Given the description of an element on the screen output the (x, y) to click on. 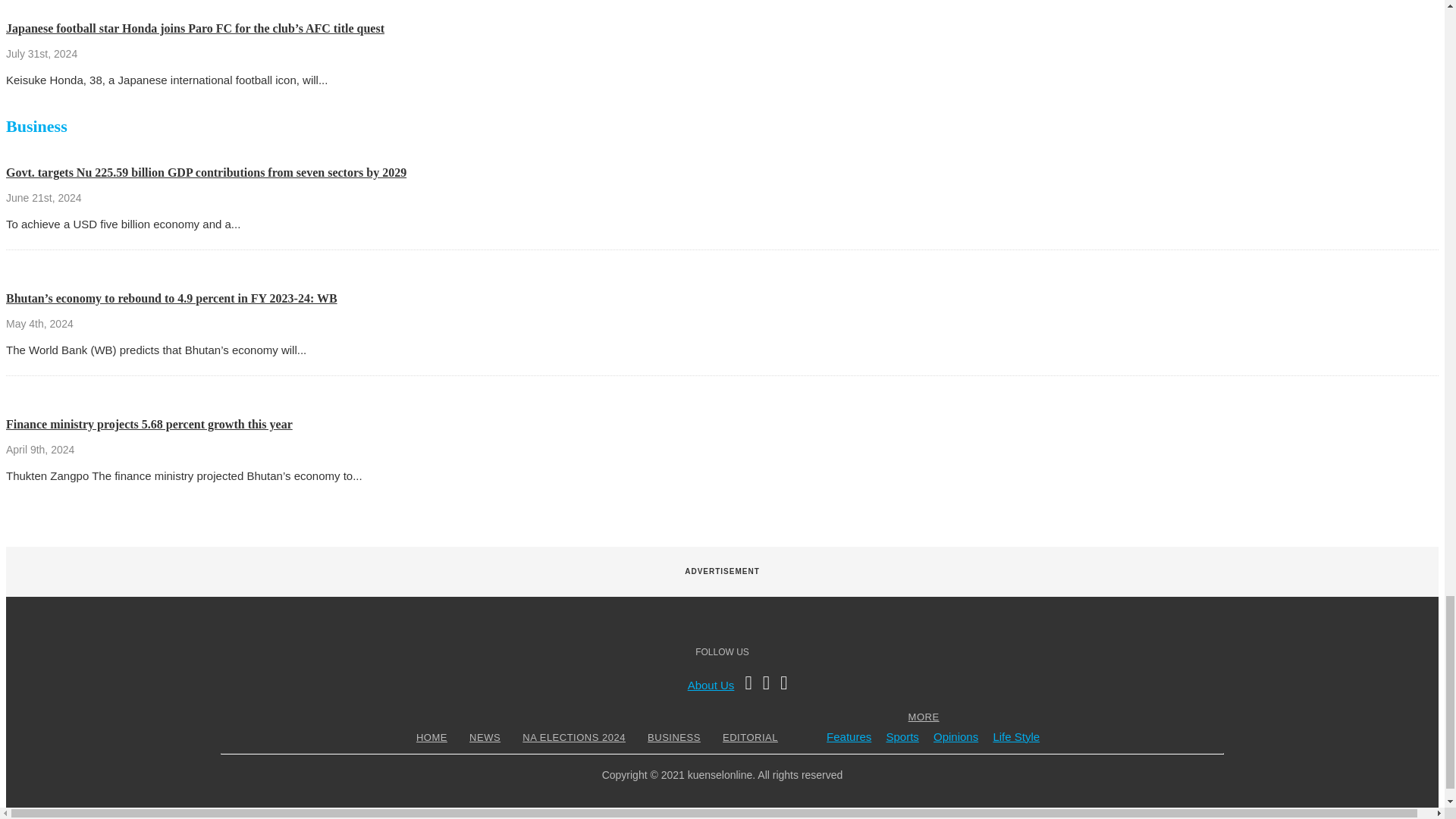
NA ELECTIONS 2024 (573, 737)
BUSINESS (673, 737)
EDITORIAL (750, 737)
MORE (923, 716)
NEWS (484, 737)
Finance ministry projects 5.68 percent growth this year (148, 423)
About Us (711, 684)
HOME (431, 737)
